Given the description of an element on the screen output the (x, y) to click on. 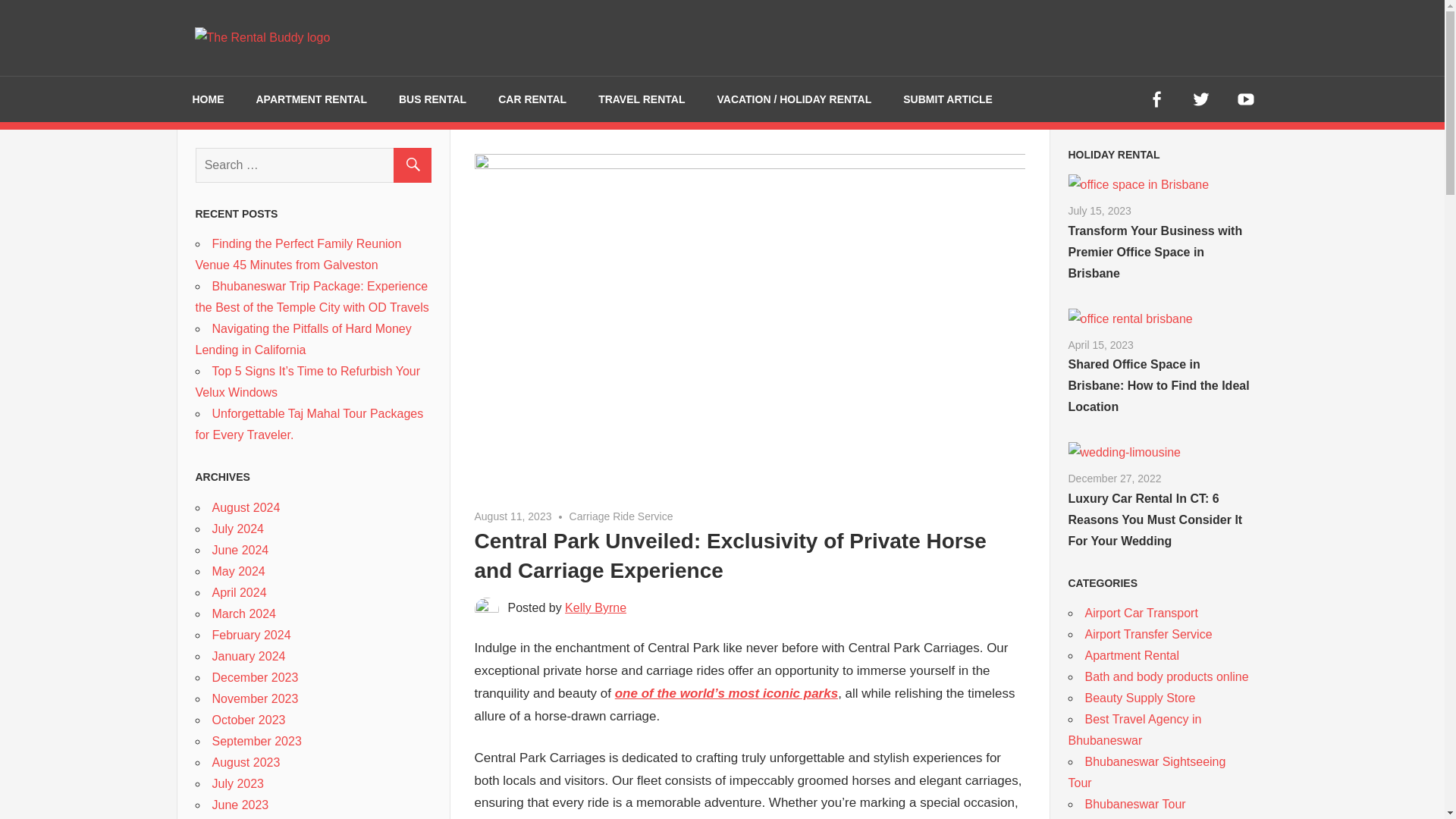
APARTMENT RENTAL (310, 99)
Search for: (312, 164)
February 2024 (251, 634)
View all posts from category Apartment Rental (1112, 154)
December 2023 (255, 676)
Carriage Ride Service (620, 516)
Kelly Byrne (595, 607)
View all posts by Kelly Byrne (595, 607)
March 2024 (244, 613)
TRAVEL RENTAL (641, 99)
